Given the description of an element on the screen output the (x, y) to click on. 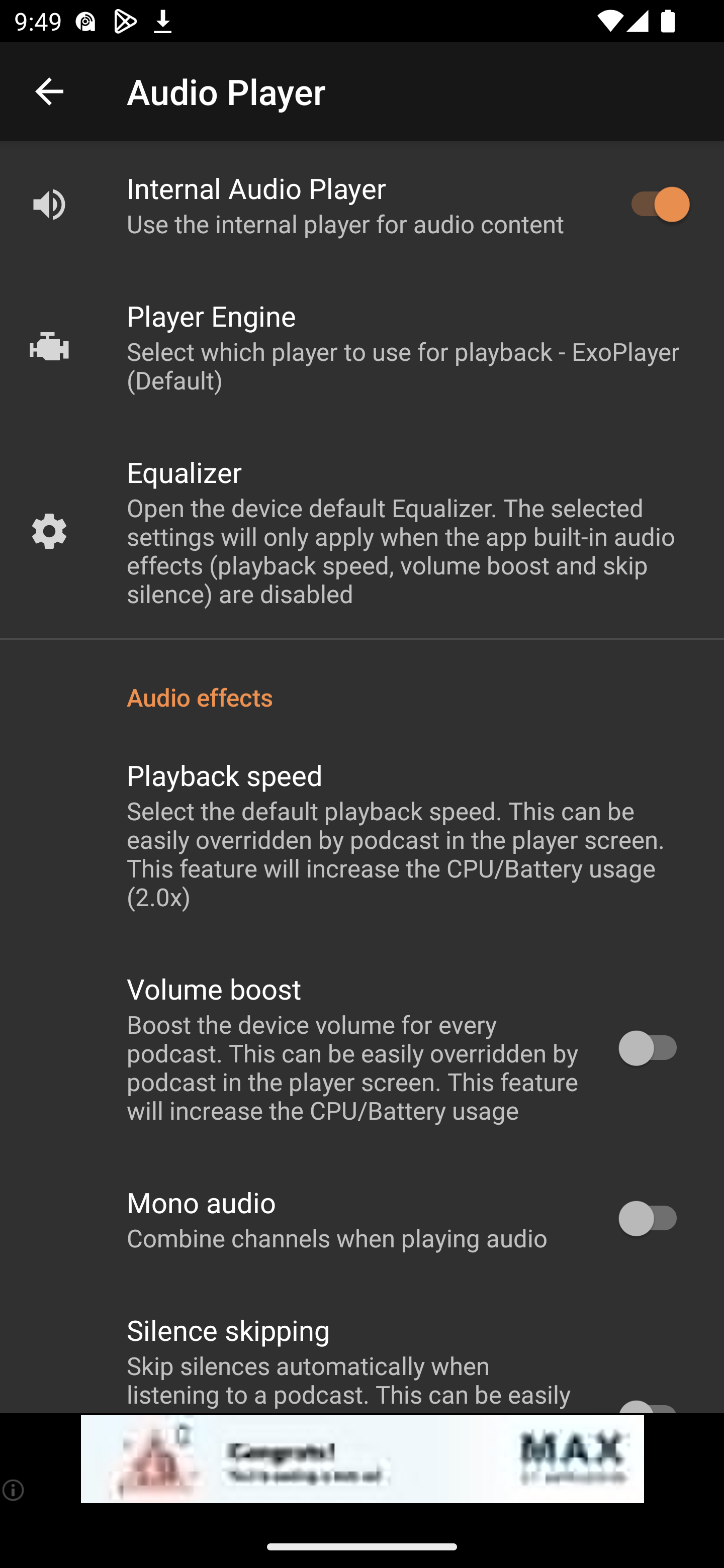
Navigate up (49, 91)
Mono audio Combine channels when playing audio (362, 1218)
app-monetization (362, 1459)
(i) (14, 1489)
